Given the description of an element on the screen output the (x, y) to click on. 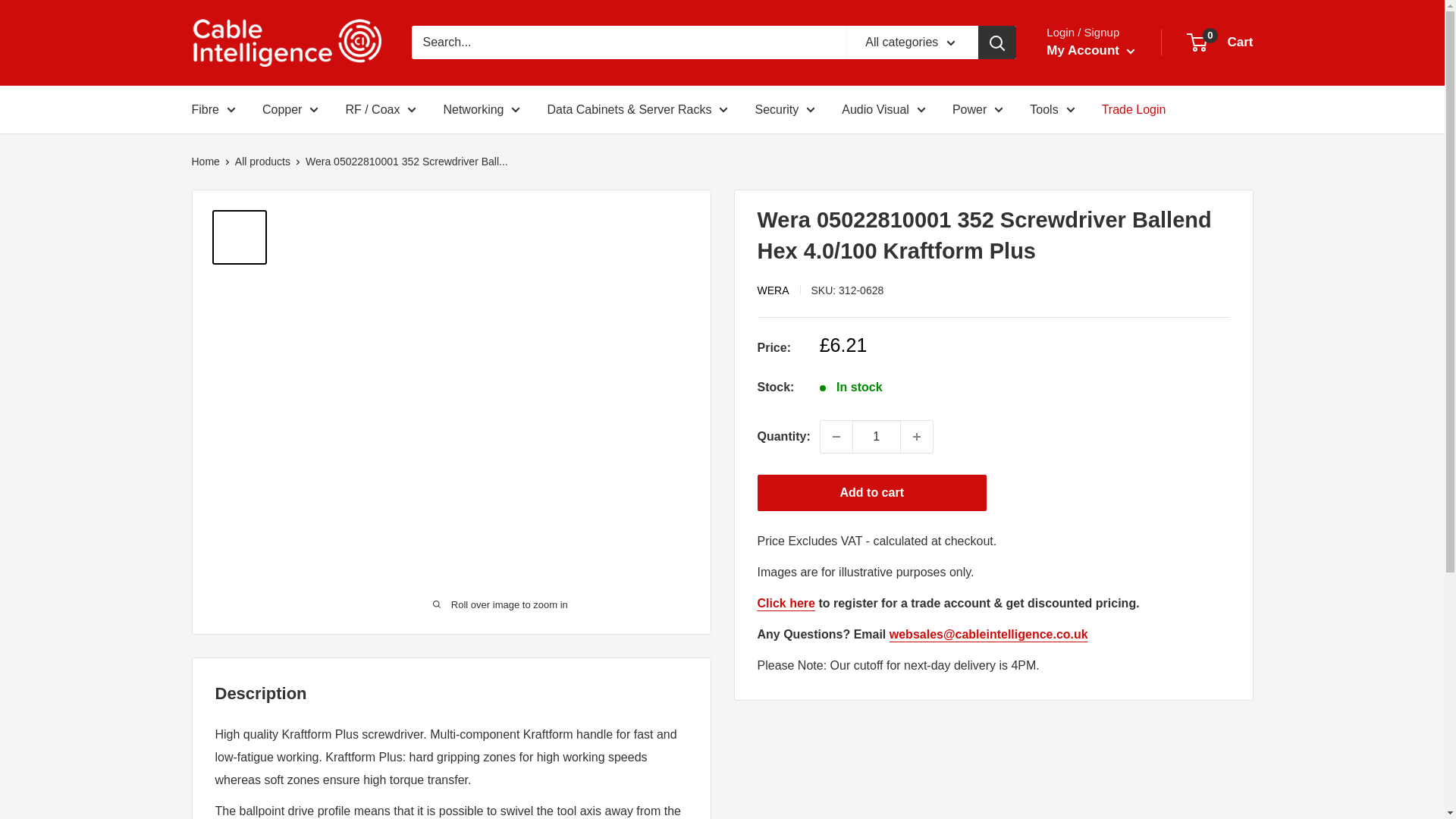
Decrease quantity by 1 (836, 436)
1 (876, 436)
Increase quantity by 1 (917, 436)
